Given the description of an element on the screen output the (x, y) to click on. 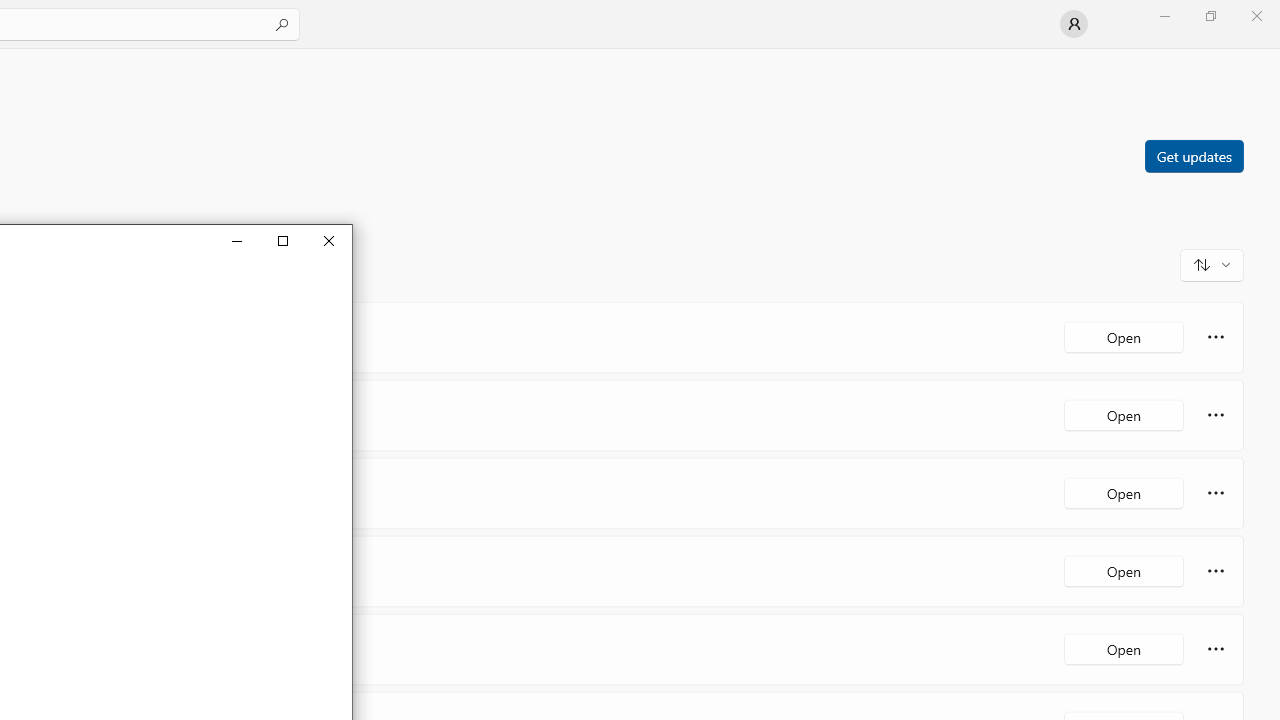
Maximize Realtek Audio Console (282, 240)
Get updates (1193, 155)
Close Realtek Audio Console (328, 240)
More options (1215, 648)
Sort and filter (1212, 263)
Open (1123, 648)
Minimize Realtek Audio Console (236, 240)
